Given the description of an element on the screen output the (x, y) to click on. 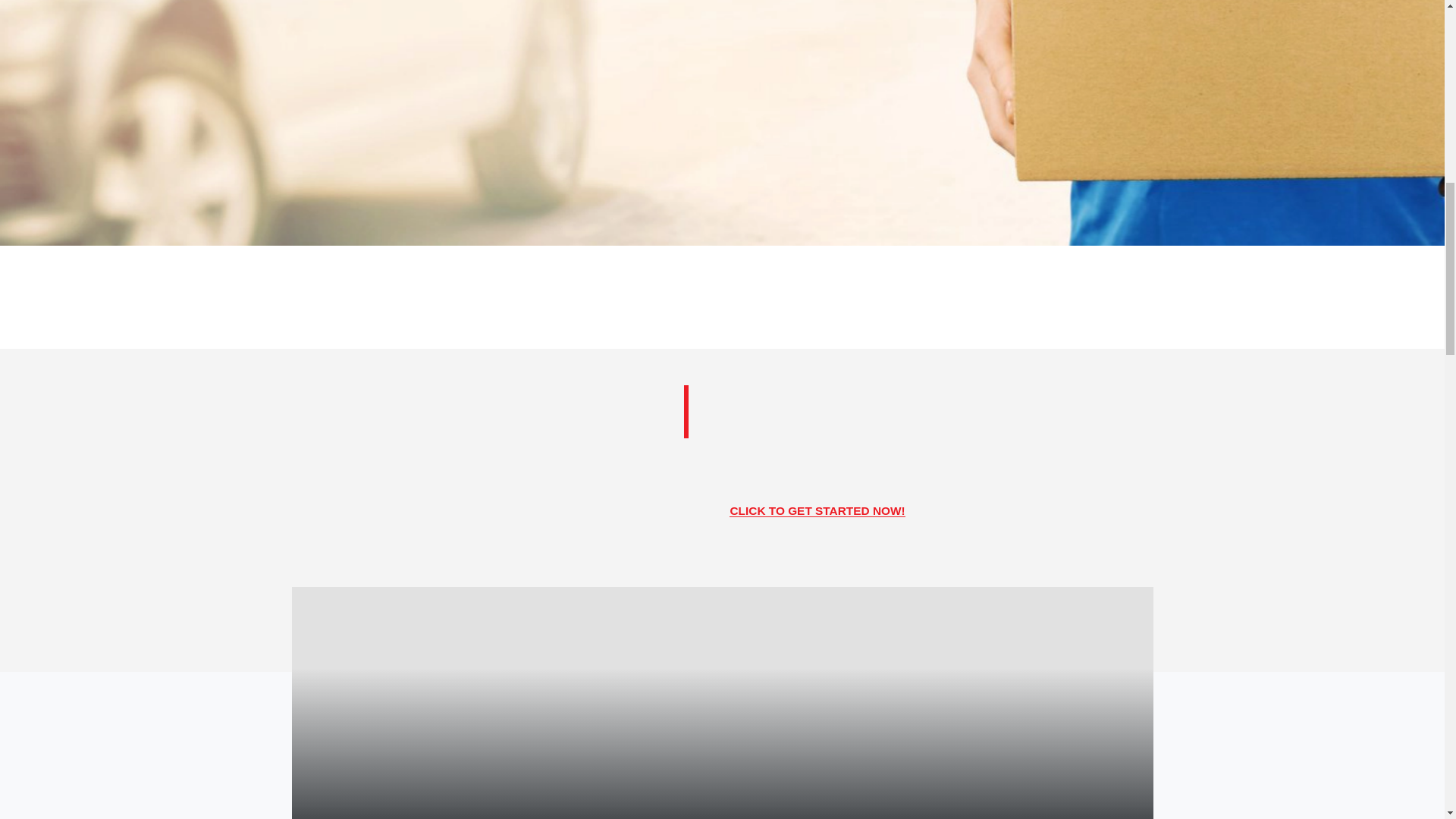
CLICK TO GET STARTED NOW! (816, 510)
Contact Fast Trax Delivery (816, 510)
